Given the description of an element on the screen output the (x, y) to click on. 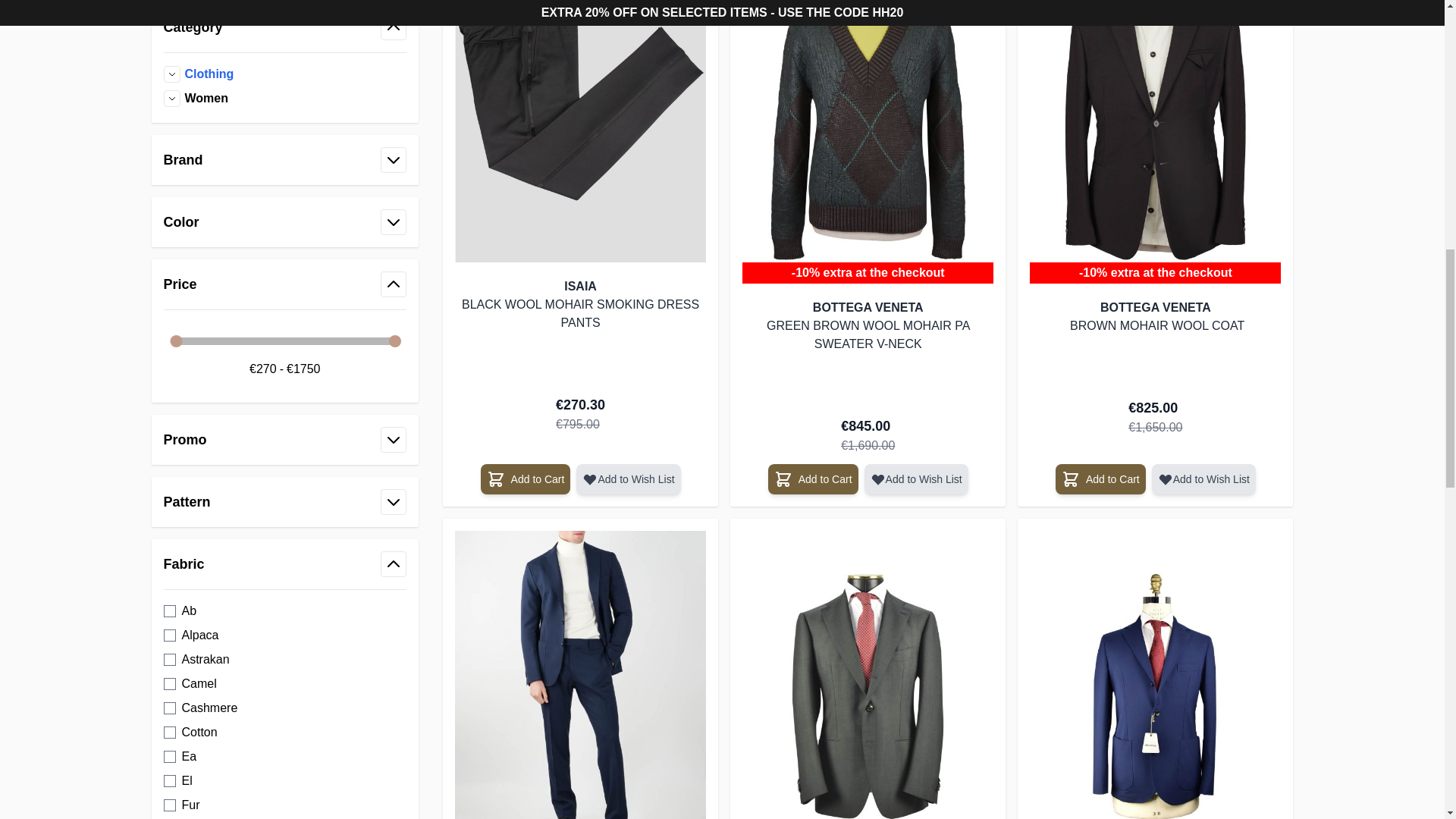
1771 (169, 611)
1795 (169, 635)
1766 (169, 756)
1776 (169, 684)
1757 (169, 805)
1734 (169, 707)
1735 (169, 732)
1759 (169, 659)
1767 (169, 780)
